Given the description of an element on the screen output the (x, y) to click on. 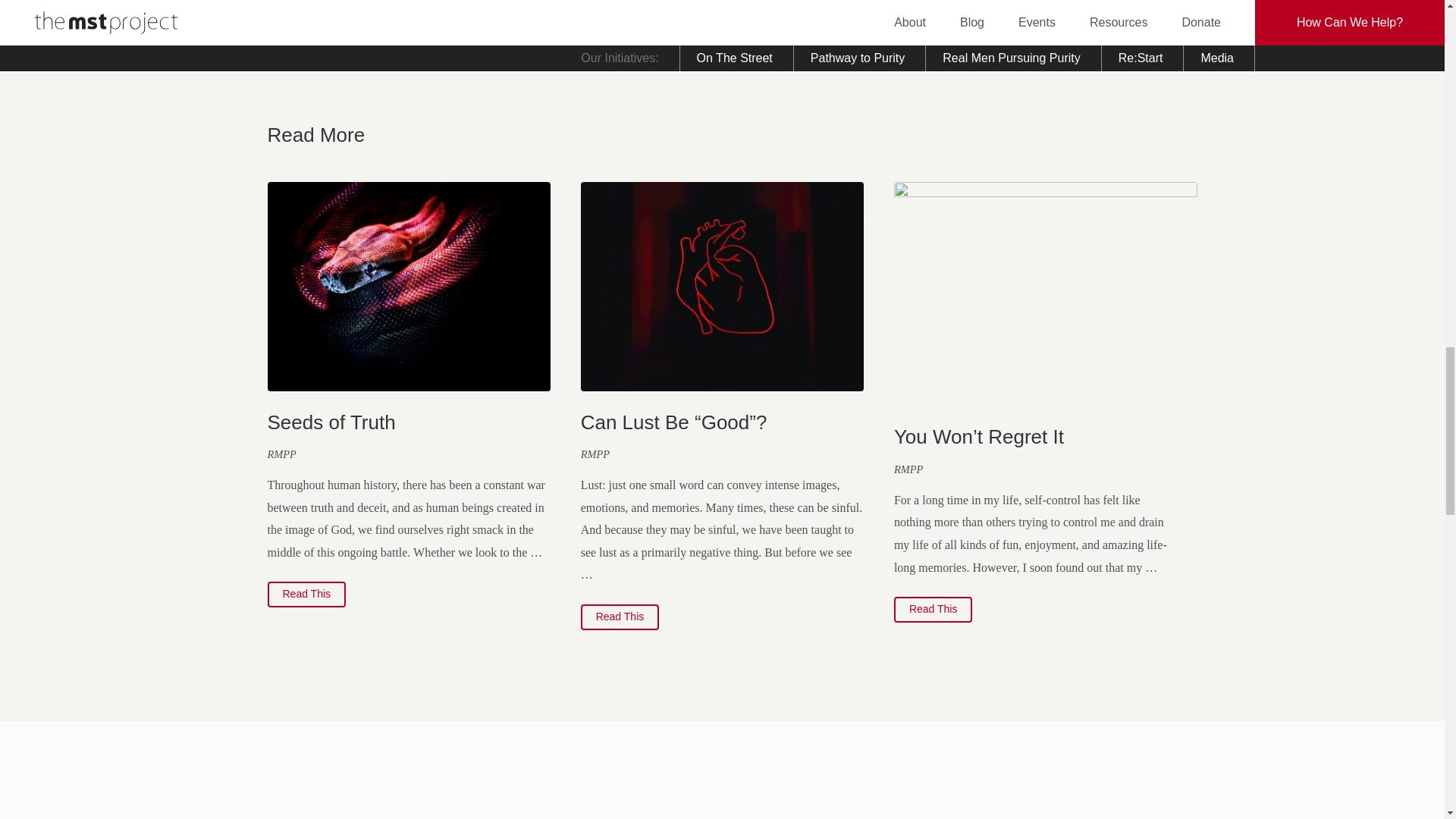
Read This (619, 616)
Seeds of Truth (330, 422)
Read This (306, 594)
Read This (932, 609)
